Given the description of an element on the screen output the (x, y) to click on. 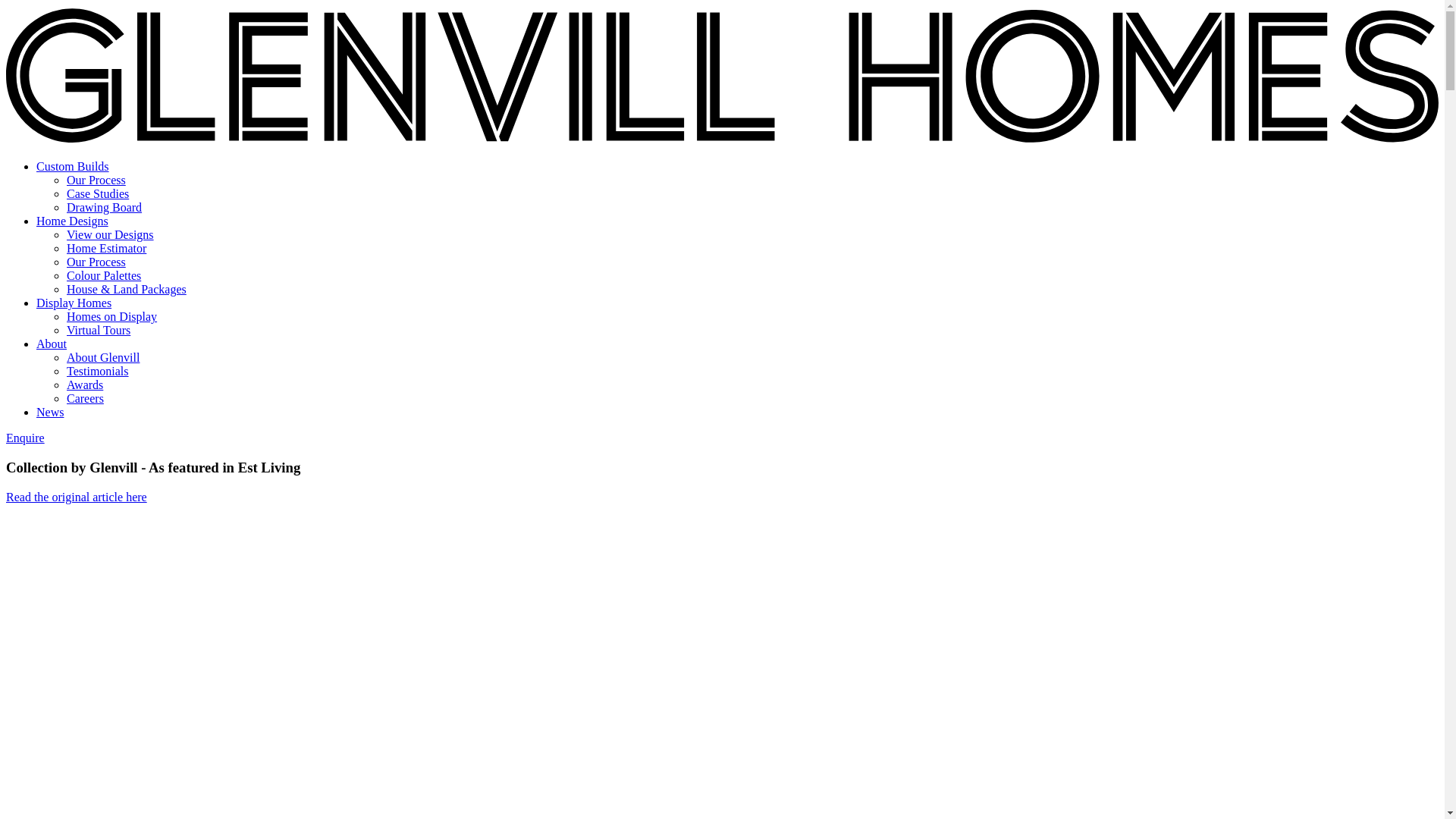
Case Studies Element type: text (97, 193)
Our Process Element type: text (95, 179)
About Glenvill Element type: text (102, 357)
Virtual Tours Element type: text (98, 329)
Homes on Display Element type: text (111, 316)
View our Designs Element type: text (109, 234)
Home Estimator Element type: text (106, 247)
About Element type: text (51, 343)
Awards Element type: text (84, 384)
Drawing Board Element type: text (103, 206)
Custom Builds Element type: text (72, 166)
Our Process Element type: text (95, 261)
News Element type: text (49, 411)
Enquire Element type: text (25, 437)
Read the original article here Element type: text (76, 496)
Display Homes Element type: text (73, 302)
House & Land Packages Element type: text (126, 288)
Testimonials Element type: text (97, 370)
Colour Palettes Element type: text (103, 275)
Careers Element type: text (84, 398)
Home Designs Element type: text (72, 220)
